Given the description of an element on the screen output the (x, y) to click on. 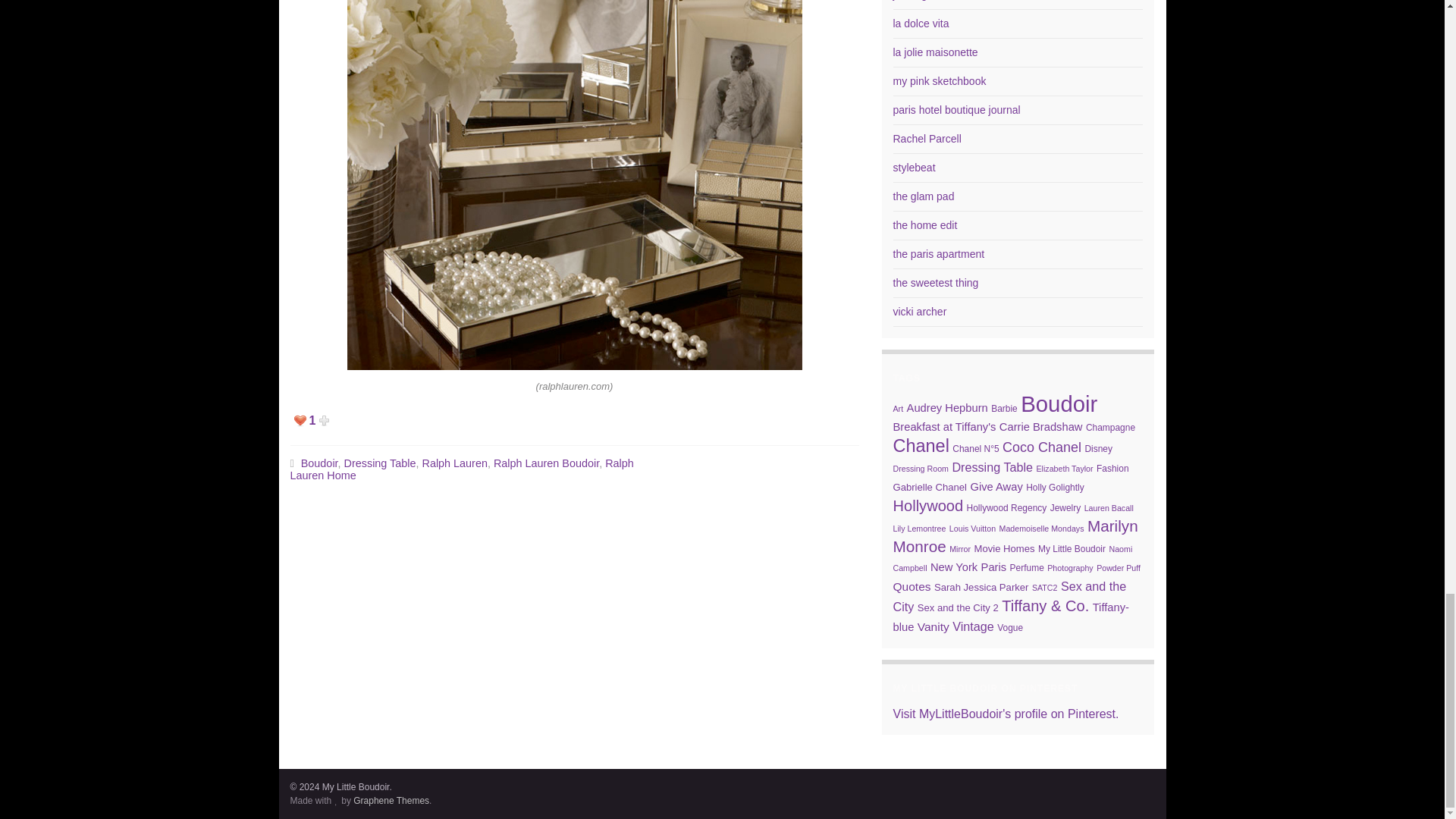
Dressing Table (379, 463)
Boudoir (319, 463)
Ralph Lauren Home (461, 469)
Ralph Lauren (454, 463)
1 (319, 420)
Ralph Lauren Boudoir (545, 463)
